Given the description of an element on the screen output the (x, y) to click on. 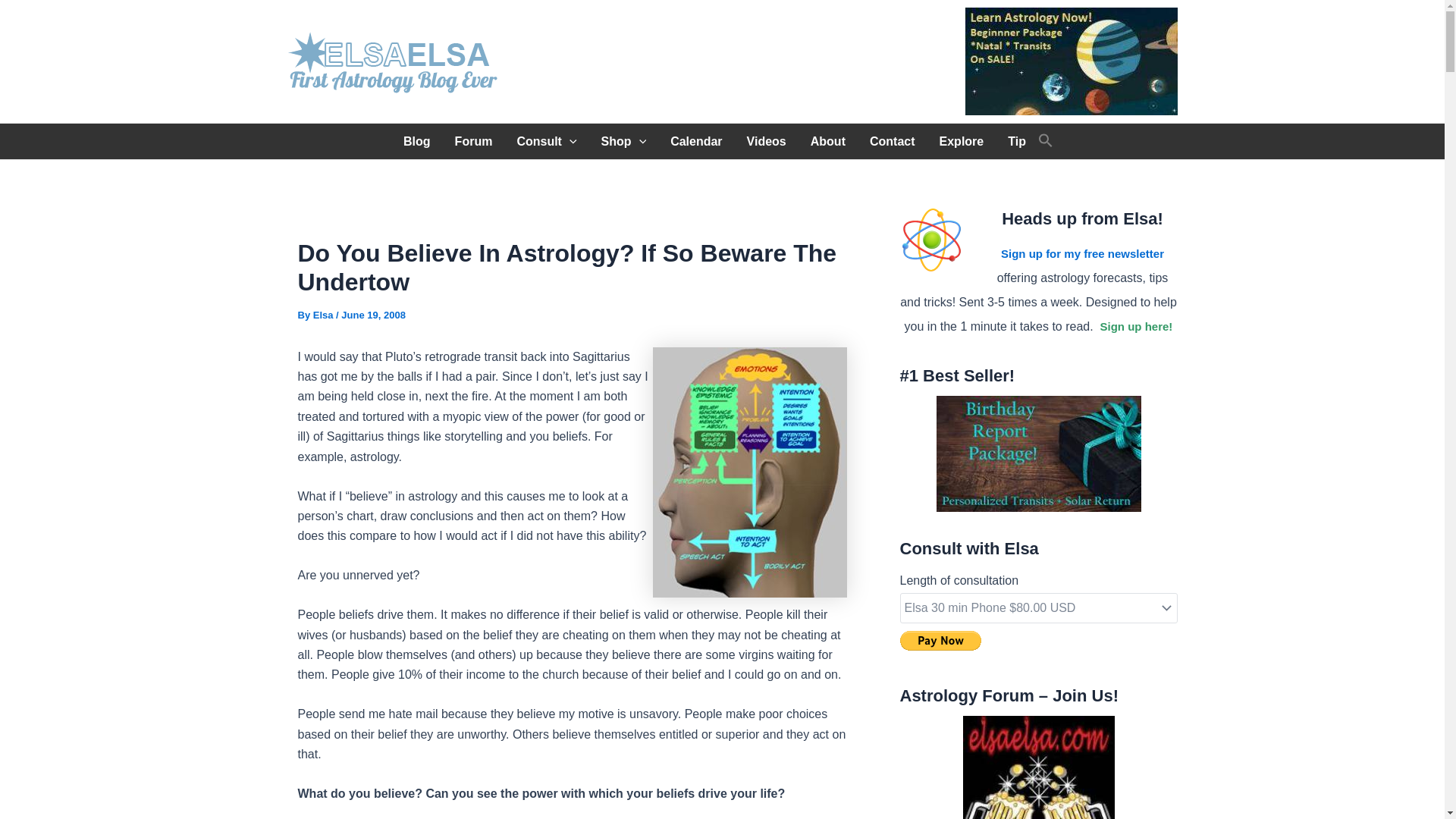
Consult (545, 140)
Shop (624, 140)
Contact (892, 140)
Tip (1016, 140)
Explore (961, 140)
Blog (416, 140)
About (827, 140)
Videos (766, 140)
View all posts by Elsa (324, 315)
Elsa (324, 315)
